Given the description of an element on the screen output the (x, y) to click on. 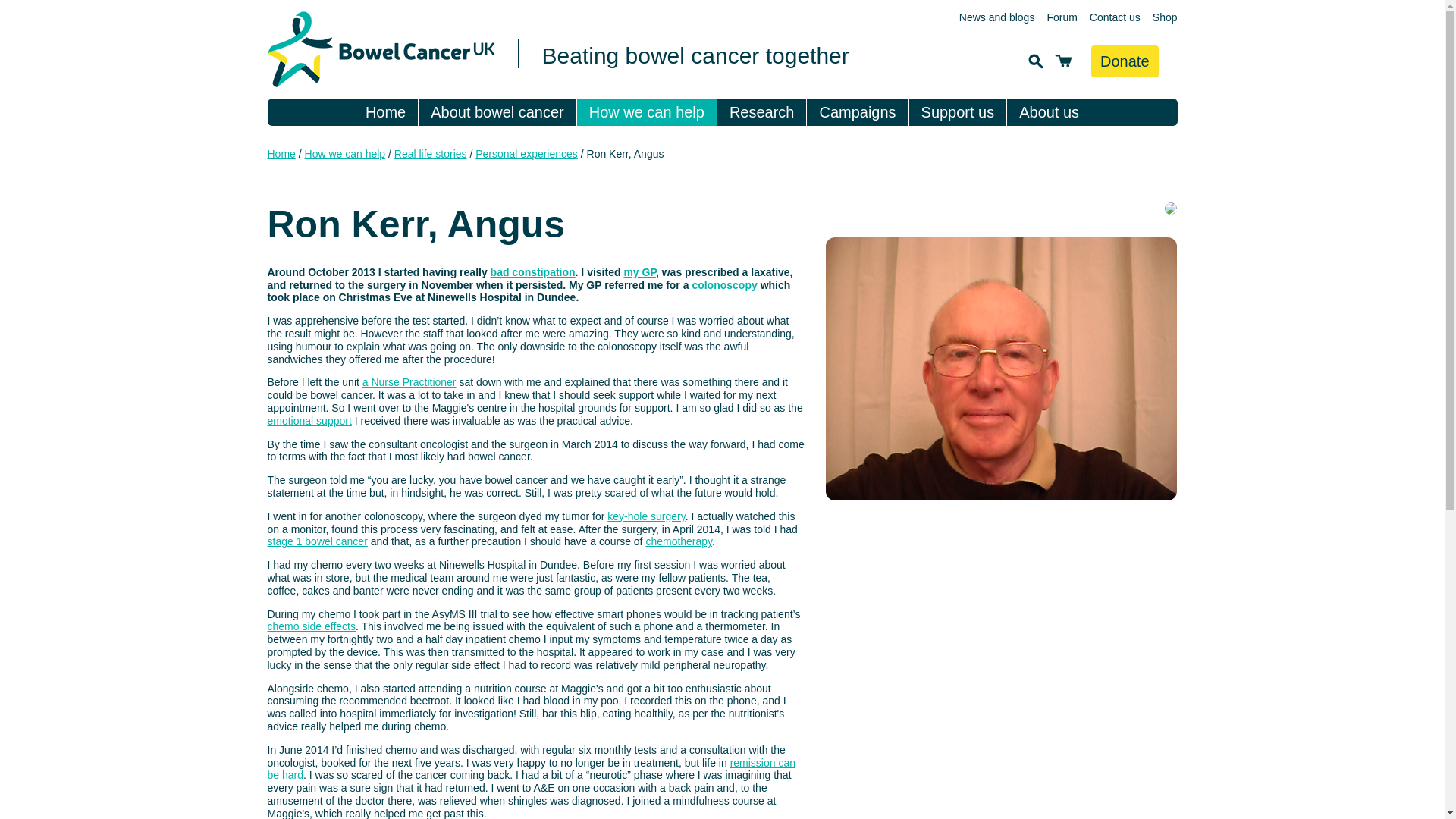
View your basket (1062, 60)
